Given the description of an element on the screen output the (x, y) to click on. 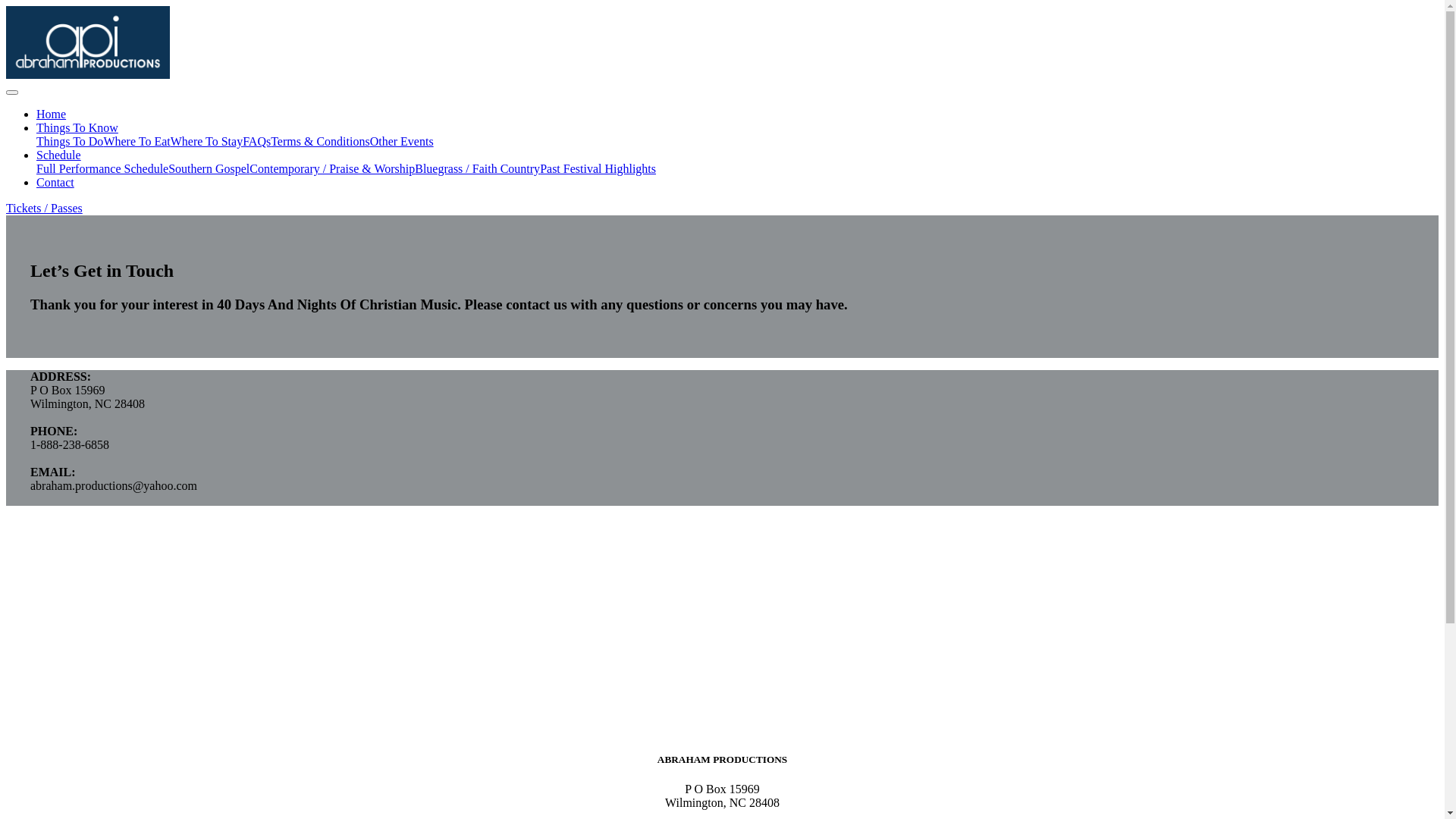
FAQs Element type: text (256, 140)
Home Element type: text (50, 113)
Other Events Element type: text (401, 140)
Bluegrass / Faith Country Element type: text (476, 168)
Past Festival Highlights Element type: text (597, 168)
Southern Gospel Element type: text (208, 168)
Contact Element type: text (55, 181)
Schedule Element type: text (58, 154)
Where To Eat Element type: text (136, 140)
Things To Do Element type: text (69, 140)
Contemporary / Praise & Worship Element type: text (331, 168)
Tickets / Passes Element type: text (44, 207)
Where To Stay Element type: text (206, 140)
Full Performance Schedule Element type: text (102, 168)
Things To Know Element type: text (77, 127)
Terms & Conditions Element type: text (319, 140)
